Given the description of an element on the screen output the (x, y) to click on. 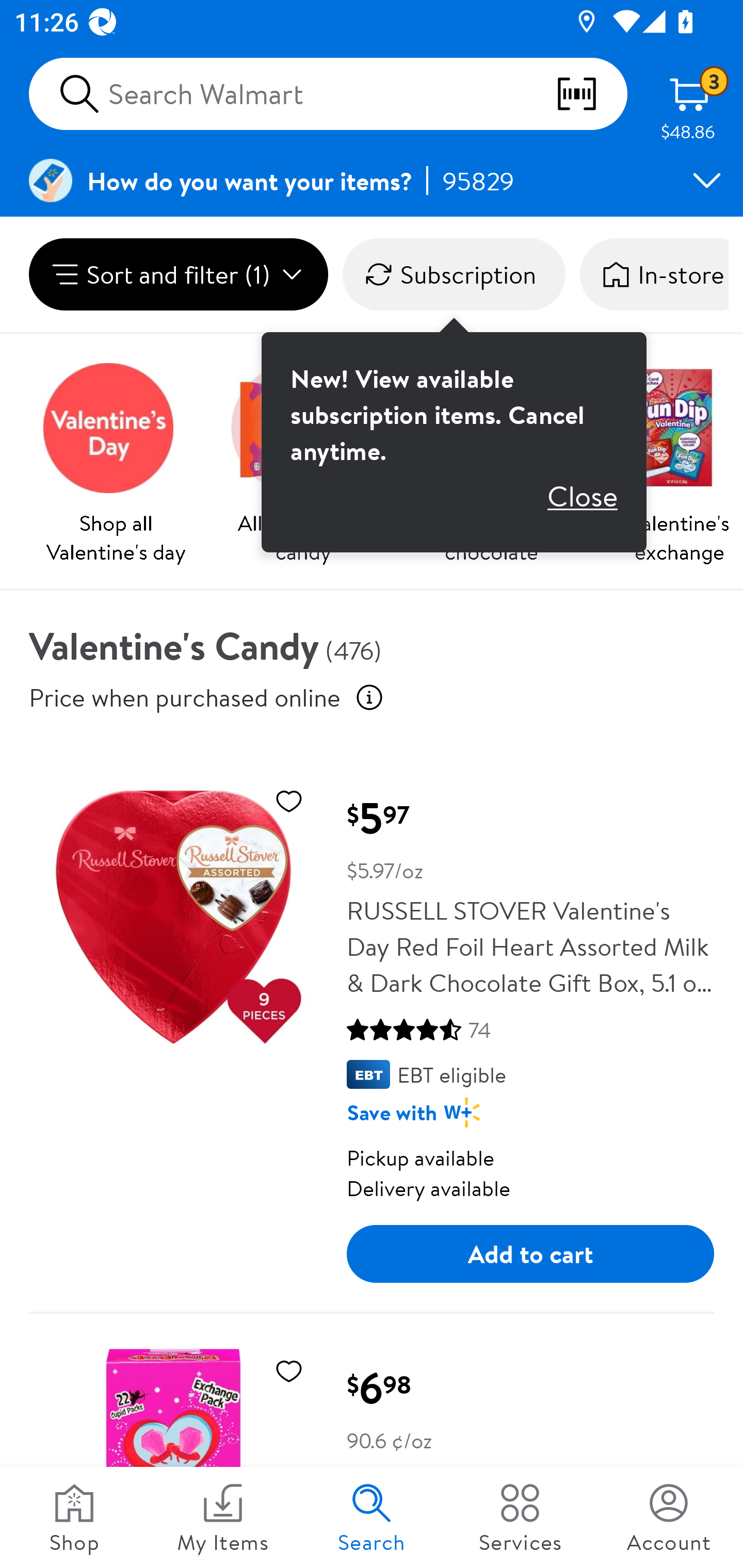
Search Walmart scan barcodes qr codes and more (327, 94)
scan barcodes qr codes and more (591, 94)
Price when purchased online (184, 696)
Price when purchased online (369, 697)
Add to cart (530, 1253)
Shop (74, 1517)
My Items (222, 1517)
Services (519, 1517)
Account (668, 1517)
